Given the description of an element on the screen output the (x, y) to click on. 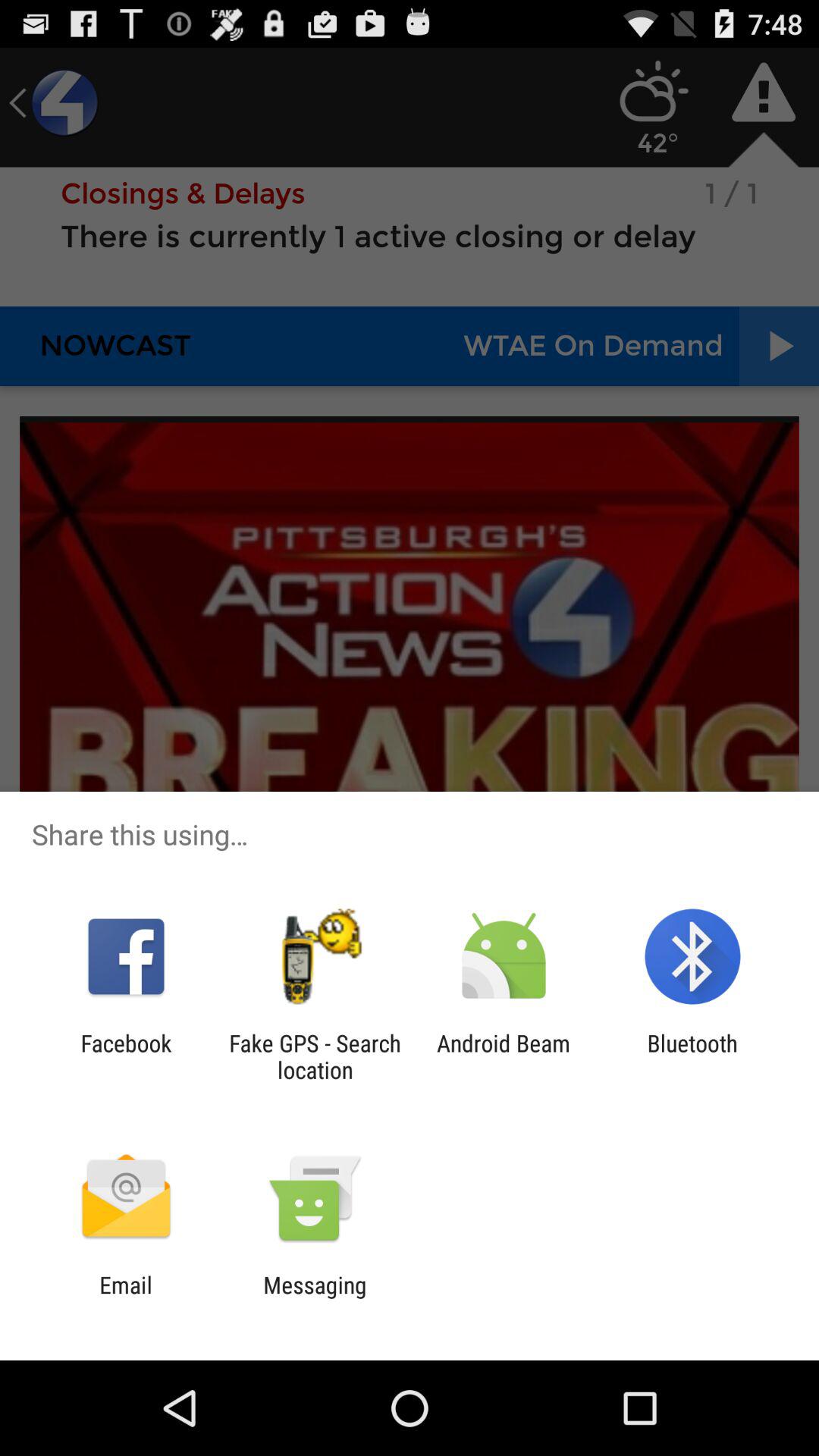
flip to the fake gps search icon (314, 1056)
